Given the description of an element on the screen output the (x, y) to click on. 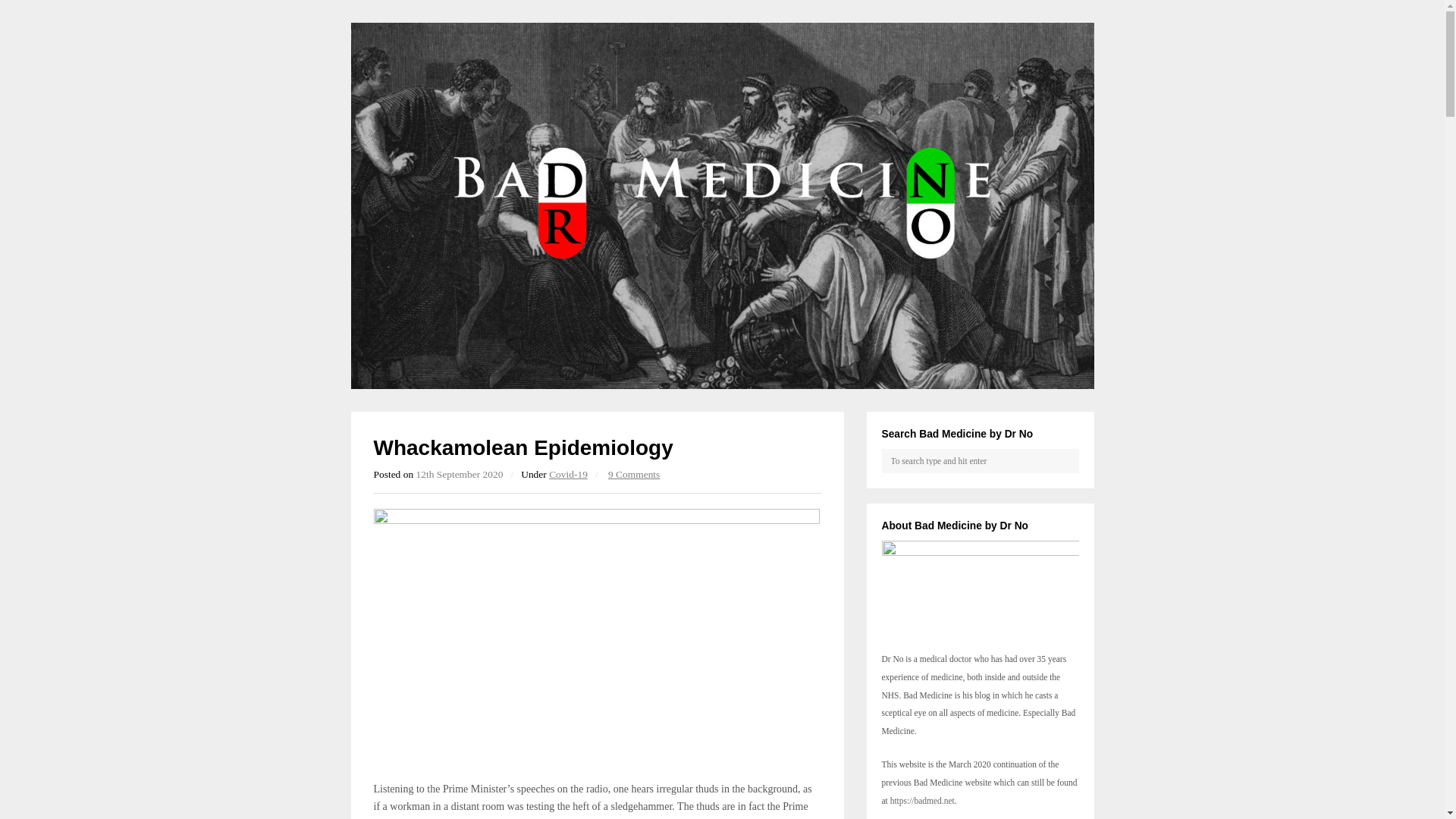
Covid-19 (568, 473)
9 Comments (633, 473)
